Given the description of an element on the screen output the (x, y) to click on. 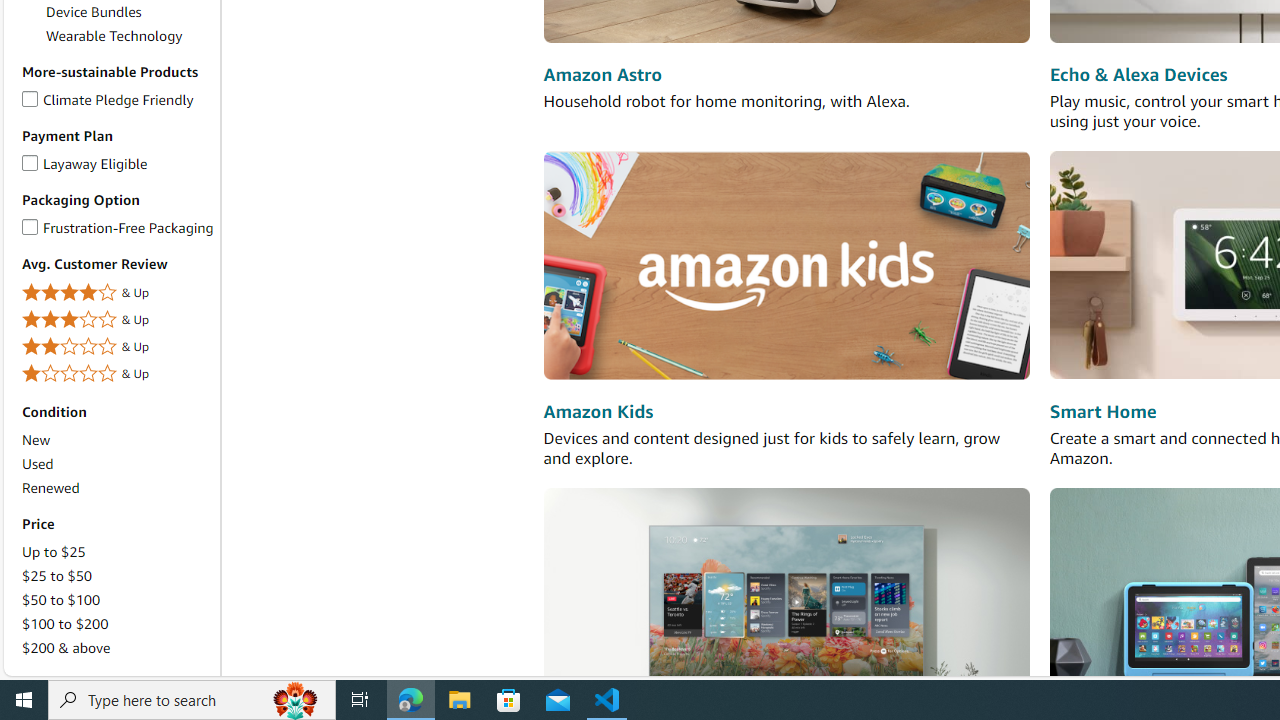
Echo & Alexa Devices (1138, 75)
4 Stars & Up& Up (117, 293)
Amazon Kids (786, 265)
3 Stars & Up (117, 319)
New (117, 439)
Frustration-Free Packaging Frustration-Free Packaging (117, 227)
$25 to $50 (117, 575)
Fire TV devices (786, 600)
1 Star & Up& Up (117, 373)
Used (117, 463)
$200 & above (117, 647)
1 Star & Up (117, 373)
4 Stars & Up (117, 292)
3 Stars & Up& Up (117, 319)
